Given the description of an element on the screen output the (x, y) to click on. 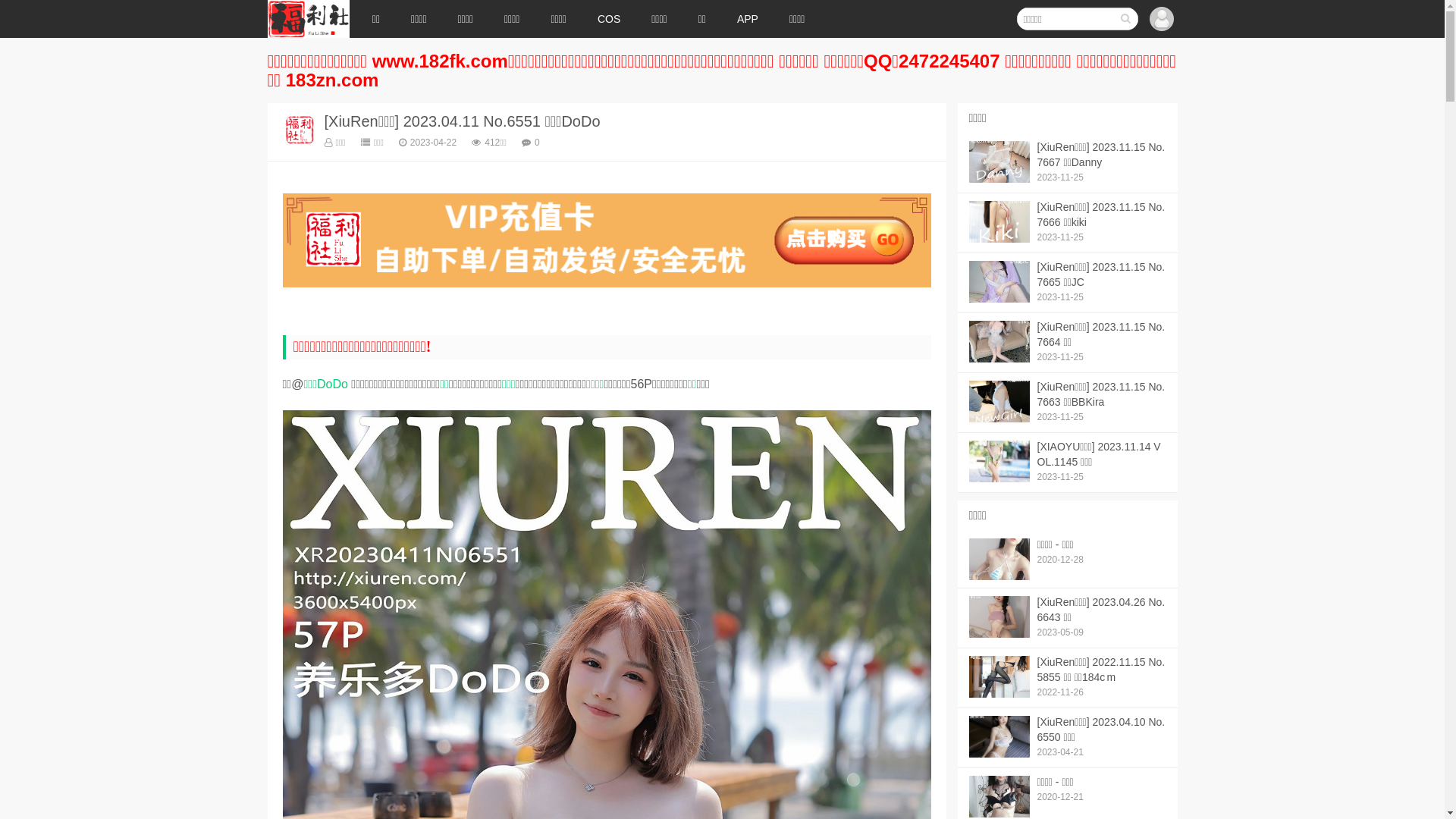
APP Element type: text (747, 18)
COS Element type: text (608, 18)
